Given the description of an element on the screen output the (x, y) to click on. 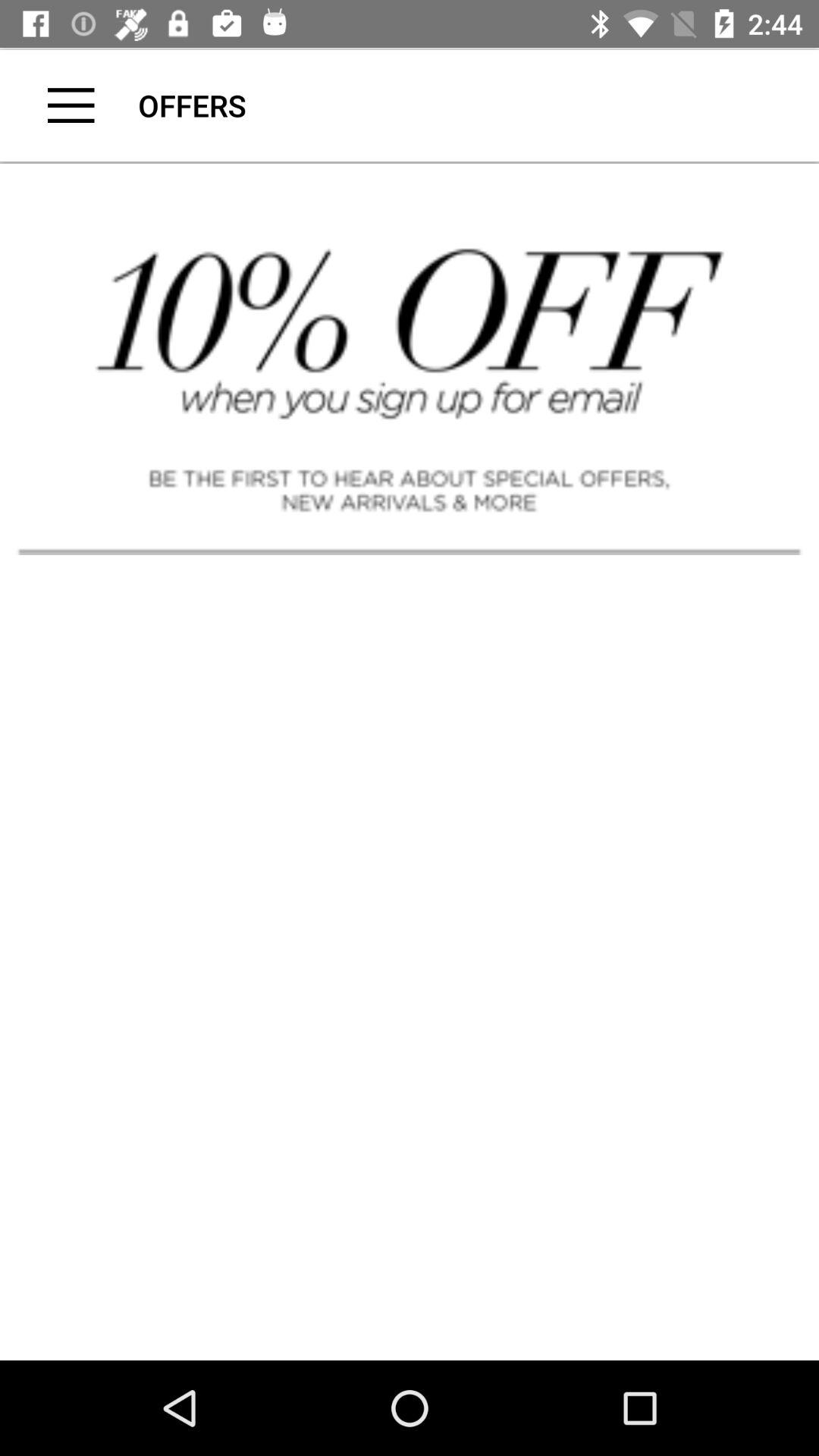
advertisement (409, 357)
